Given the description of an element on the screen output the (x, y) to click on. 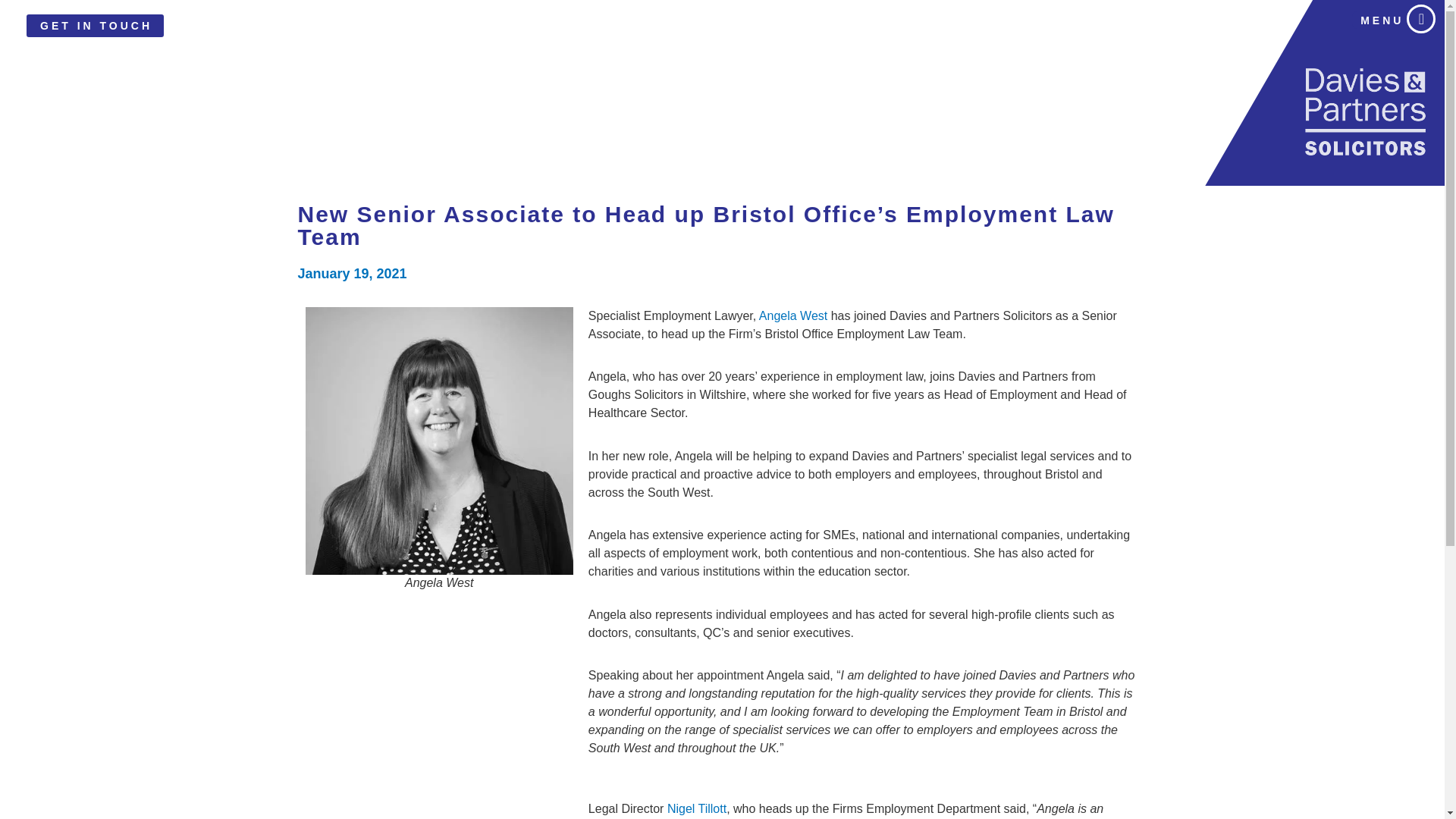
Angela West (792, 315)
Nigel Tillott (696, 808)
GET IN TOUCH (94, 25)
MENU (1381, 19)
